Given the description of an element on the screen output the (x, y) to click on. 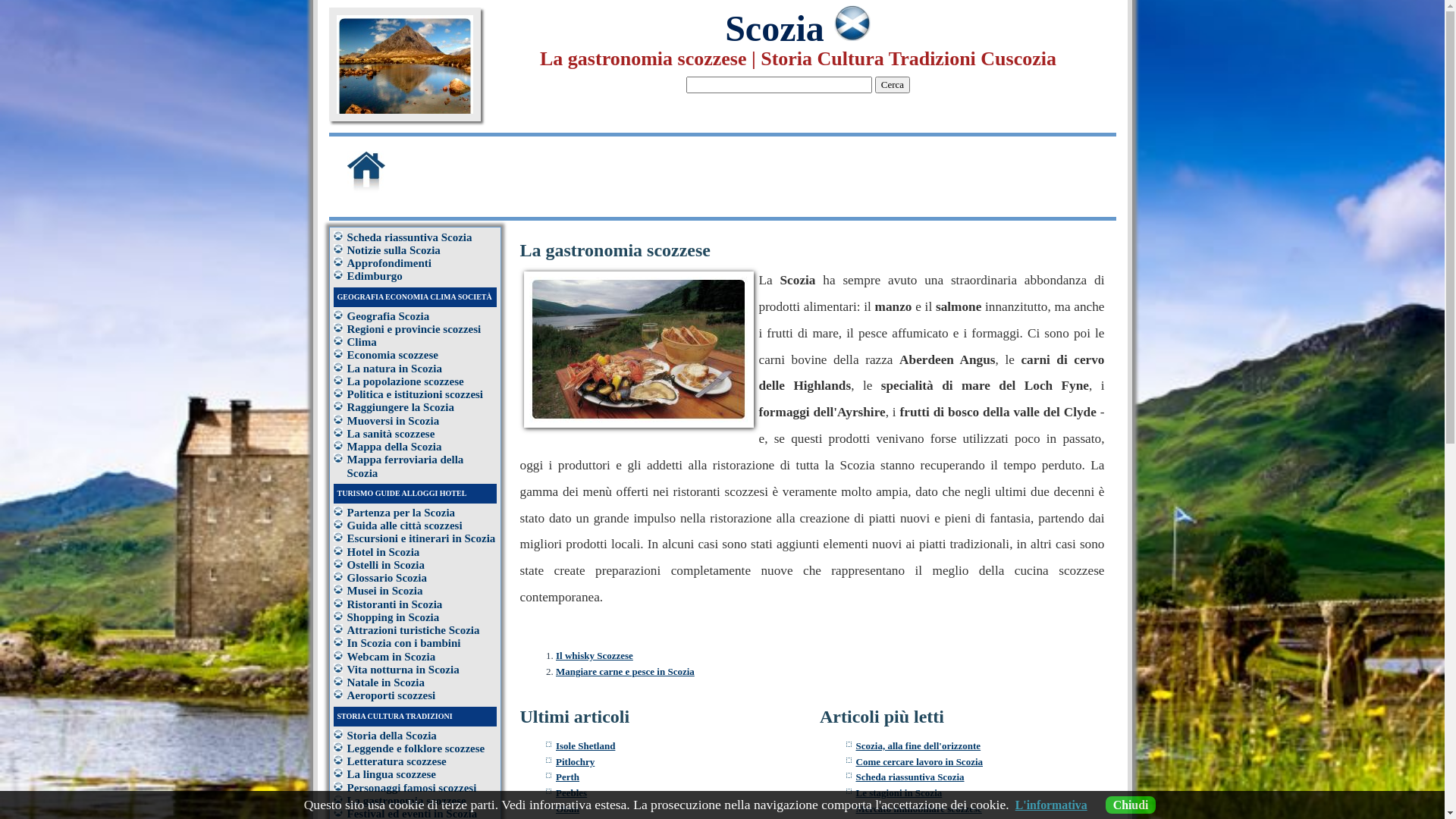
Mercato immobiliare scozzese Element type: text (918, 808)
Ostelli in Scozia Element type: text (386, 564)
Advertisement Element type: hover (762, 172)
Ristoranti in Scozia Element type: text (394, 603)
Il whisky Scozzese Element type: text (594, 655)
Letteratura scozzese Element type: text (396, 761)
Chiudi Element type: text (1130, 804)
Clima Element type: text (361, 341)
Come cercare lavoro in Scozia Element type: text (918, 761)
Partenza per la Scozia Element type: text (401, 512)
Scozia, alla fine dell'orizzonte Element type: text (917, 745)
Musei in Scozia Element type: text (385, 590)
Escursioni e itinerari in Scozia Element type: text (421, 538)
Pitlochry Element type: text (574, 761)
Glossario Scozia Element type: text (386, 577)
Scheda riassuntiva Scozia Element type: text (409, 236)
Hotel in Scozia Element type: text (383, 552)
Regioni e provincie scozzesi Element type: text (414, 329)
Webcam in Scozia Element type: text (391, 656)
Scheda riassuntiva Scozia Element type: text (909, 776)
La gastronomia scozzese Element type: text (406, 800)
Economia scozzese Element type: text (392, 354)
Shopping in Scozia Element type: text (393, 617)
Geografia Scozia Element type: text (388, 315)
In Scozia con i bambini Element type: text (404, 643)
Attrazioni turistiche Scozia Element type: text (413, 630)
Mangiare carne e pesce in Scozia Element type: text (624, 671)
L'informativa Element type: text (1051, 804)
Oban Element type: text (567, 808)
Mappa ferroviaria della Scozia Element type: text (405, 465)
Muoversi in Scozia Element type: text (393, 420)
La lingua scozzese Element type: text (391, 774)
Personaggi famosi scozzesi Element type: text (411, 787)
Aeroporti scozzesi Element type: text (391, 695)
Leggende e folklore scozzese Element type: text (416, 748)
Cerca Element type: text (892, 84)
Vita notturna in Scozia Element type: text (403, 669)
Isole Shetland Element type: text (585, 745)
   Element type: text (388, 189)
La natura in Scozia Element type: text (394, 368)
Perth Element type: text (567, 776)
Le stagioni in Scozia Element type: text (898, 792)
Edimburgo Element type: text (374, 275)
Raggiungere la Scozia Element type: text (400, 407)
Notizie sulla Scozia Element type: text (393, 250)
Mappa della Scozia Element type: text (394, 446)
Approfondimenti Element type: text (389, 263)
Storia della Scozia Element type: text (391, 735)
La popolazione scozzese Element type: text (405, 381)
Scozia Element type: text (797, 28)
Politica e istituzioni scozzesi Element type: text (415, 394)
Natale in Scozia Element type: text (386, 682)
Peebles Element type: text (570, 792)
